Given the description of an element on the screen output the (x, y) to click on. 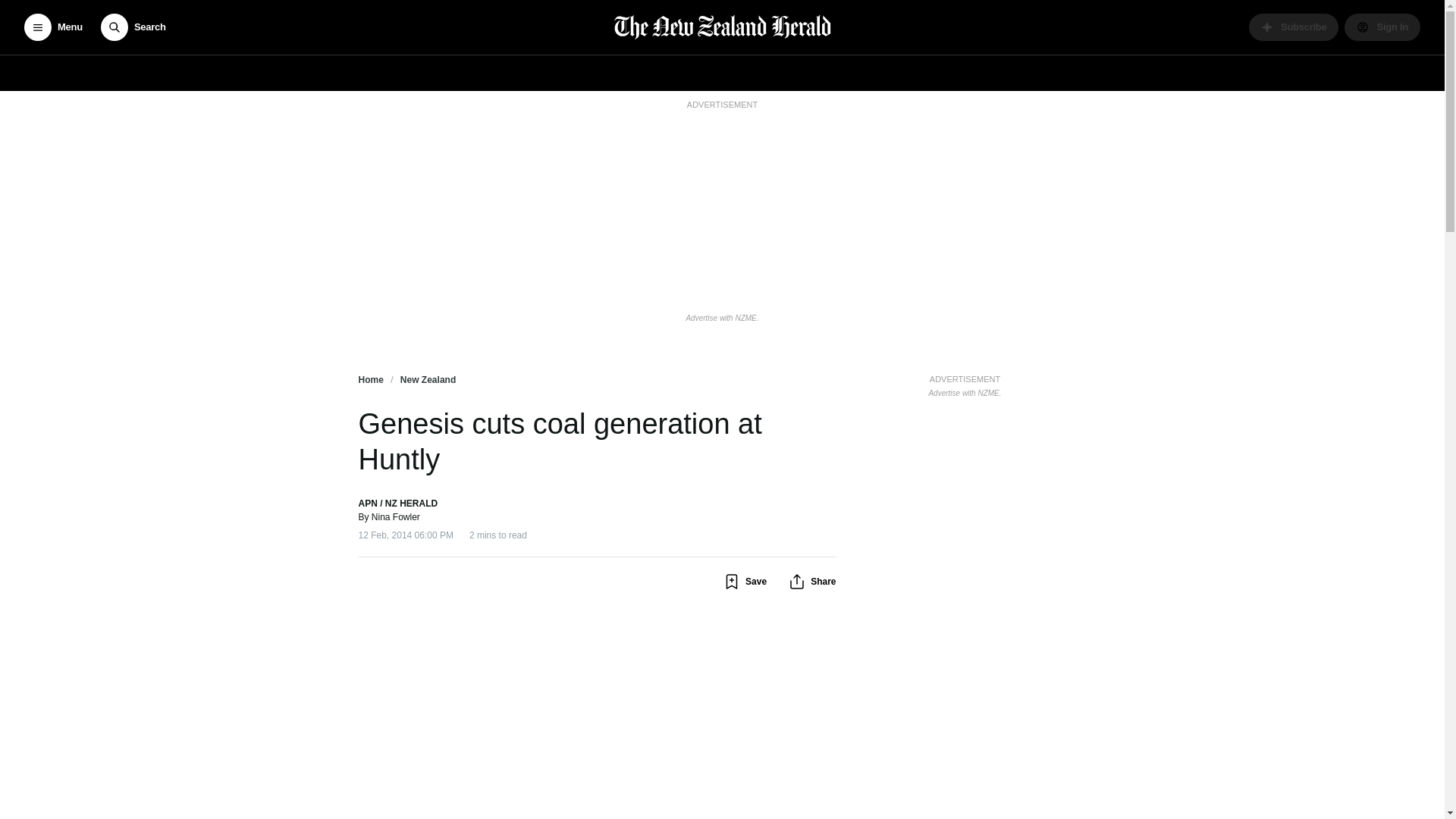
Manage your account (1382, 26)
Subscribe (1294, 26)
Sign In (1382, 26)
Menu (53, 26)
Search (132, 26)
